Given the description of an element on the screen output the (x, y) to click on. 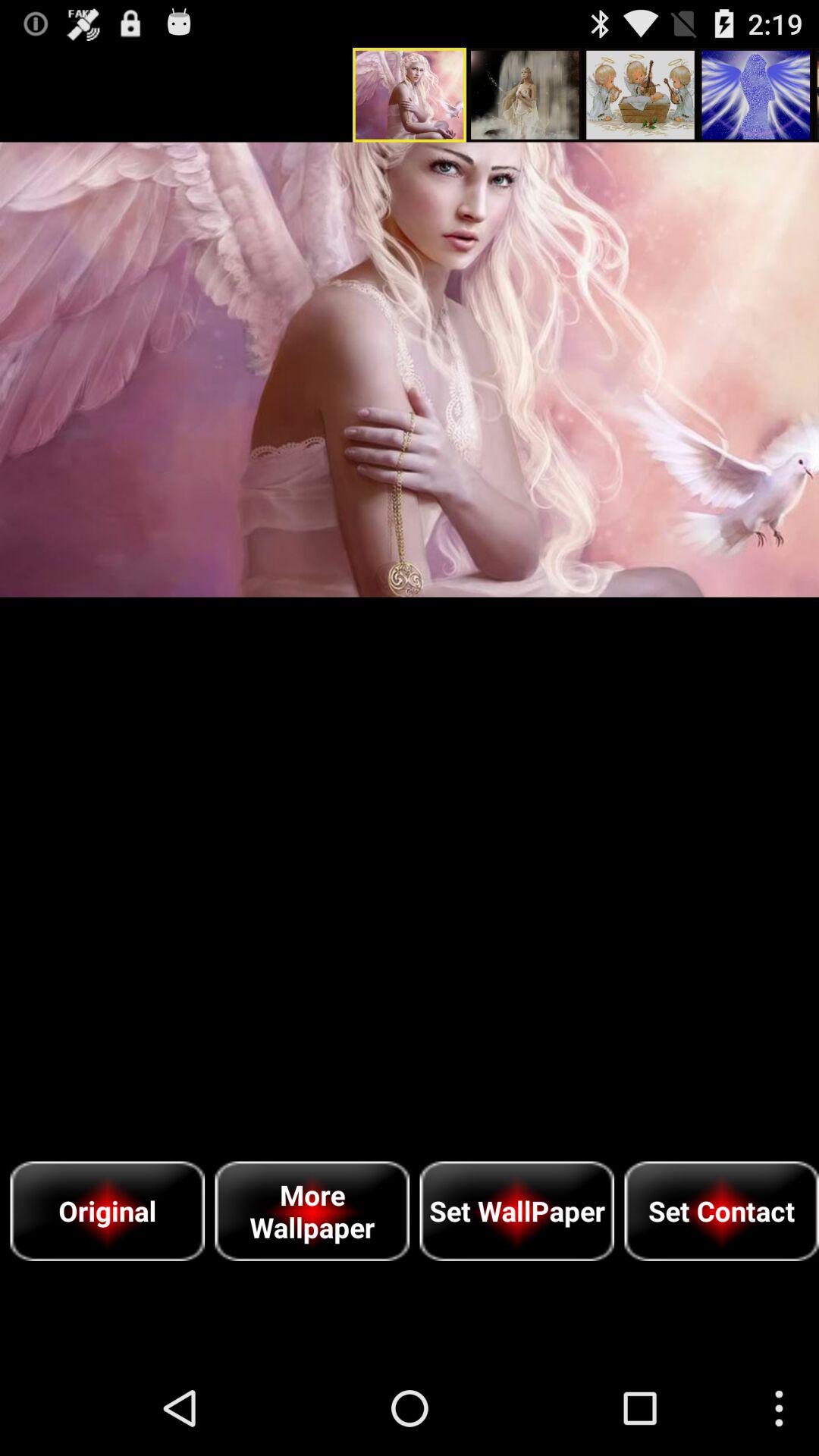
turn on icon next to the set wallpaper (311, 1210)
